Given the description of an element on the screen output the (x, y) to click on. 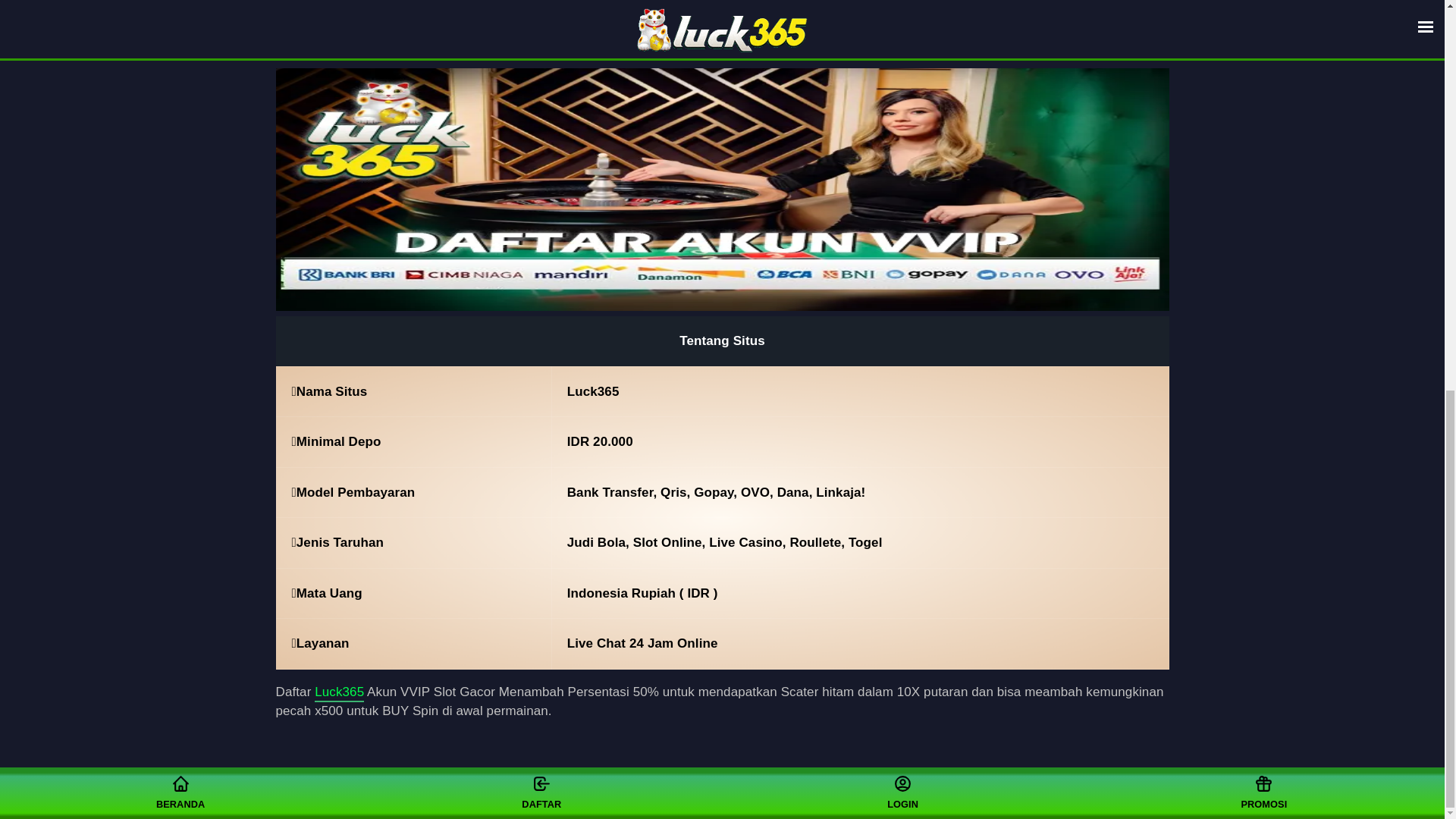
PROMOSI (1262, 49)
Promotion (903, 49)
Live Chat Luck365 (1262, 49)
LOGIN (903, 49)
Luck365 (657, 801)
BERANDA (180, 49)
DAFTAR (541, 49)
Luck365 (339, 692)
